Given the description of an element on the screen output the (x, y) to click on. 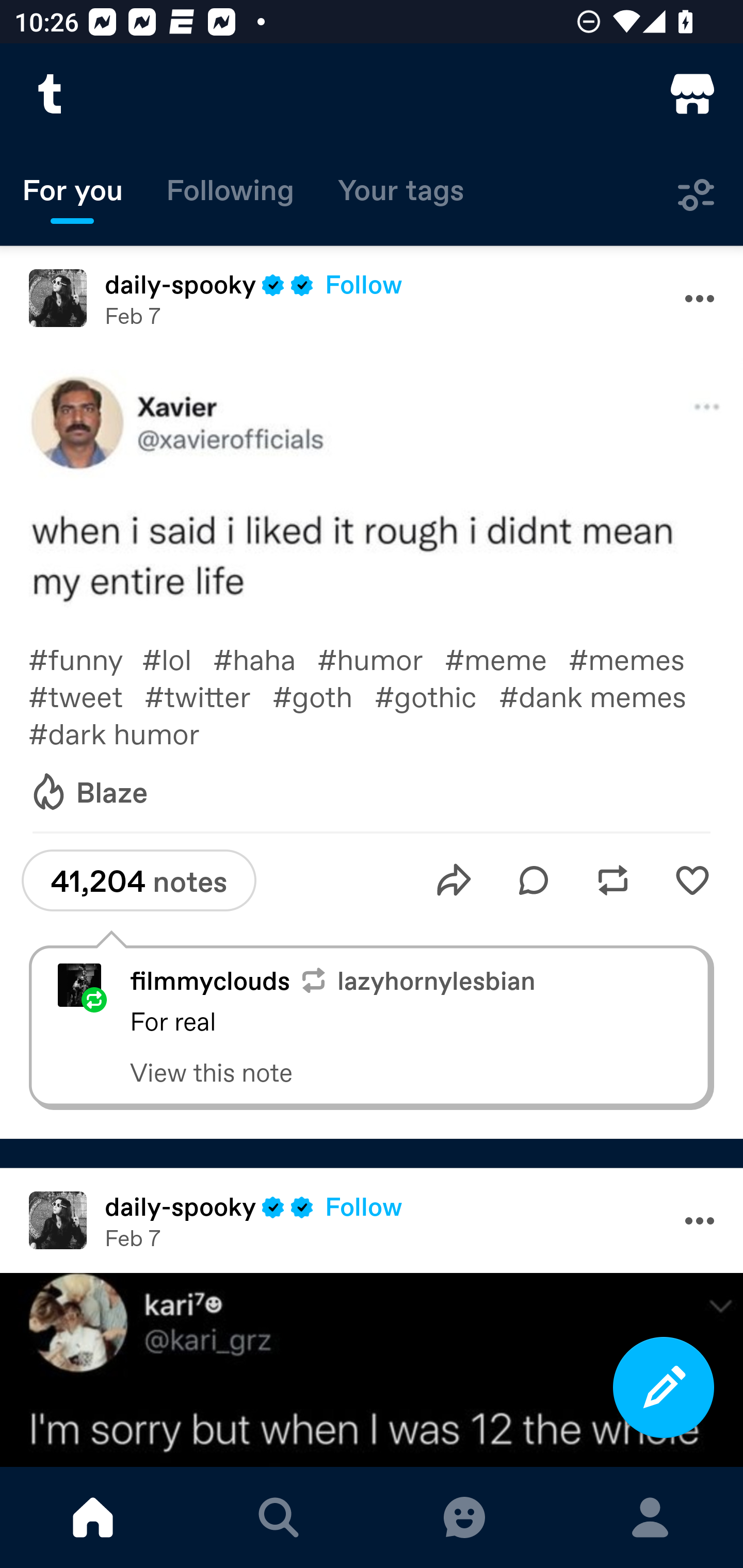
Tumblr (50, 93)
TumblrMart (692, 94)
Following (230, 195)
Your tags (400, 195)
Follow (363, 283)
#funny (84, 658)
#lol (177, 658)
#haha (265, 658)
#humor (381, 658)
#meme (506, 658)
#memes (637, 658)
#tweet (86, 696)
#twitter (208, 696)
#goth (323, 696)
#gothic (436, 696)
#dank memes (603, 696)
#dark humor (128, 733)
Blaze Blaze Blaze (88, 792)
Share post to message (454, 880)
Reply (533, 880)
Reblog (612, 880)
Like (691, 880)
41,204 notes (138, 880)
Follow (363, 1206)
Compose a new post (663, 1387)
DASHBOARD (92, 1517)
EXPLORE (278, 1517)
MESSAGES (464, 1517)
ACCOUNT (650, 1517)
